Given the description of an element on the screen output the (x, y) to click on. 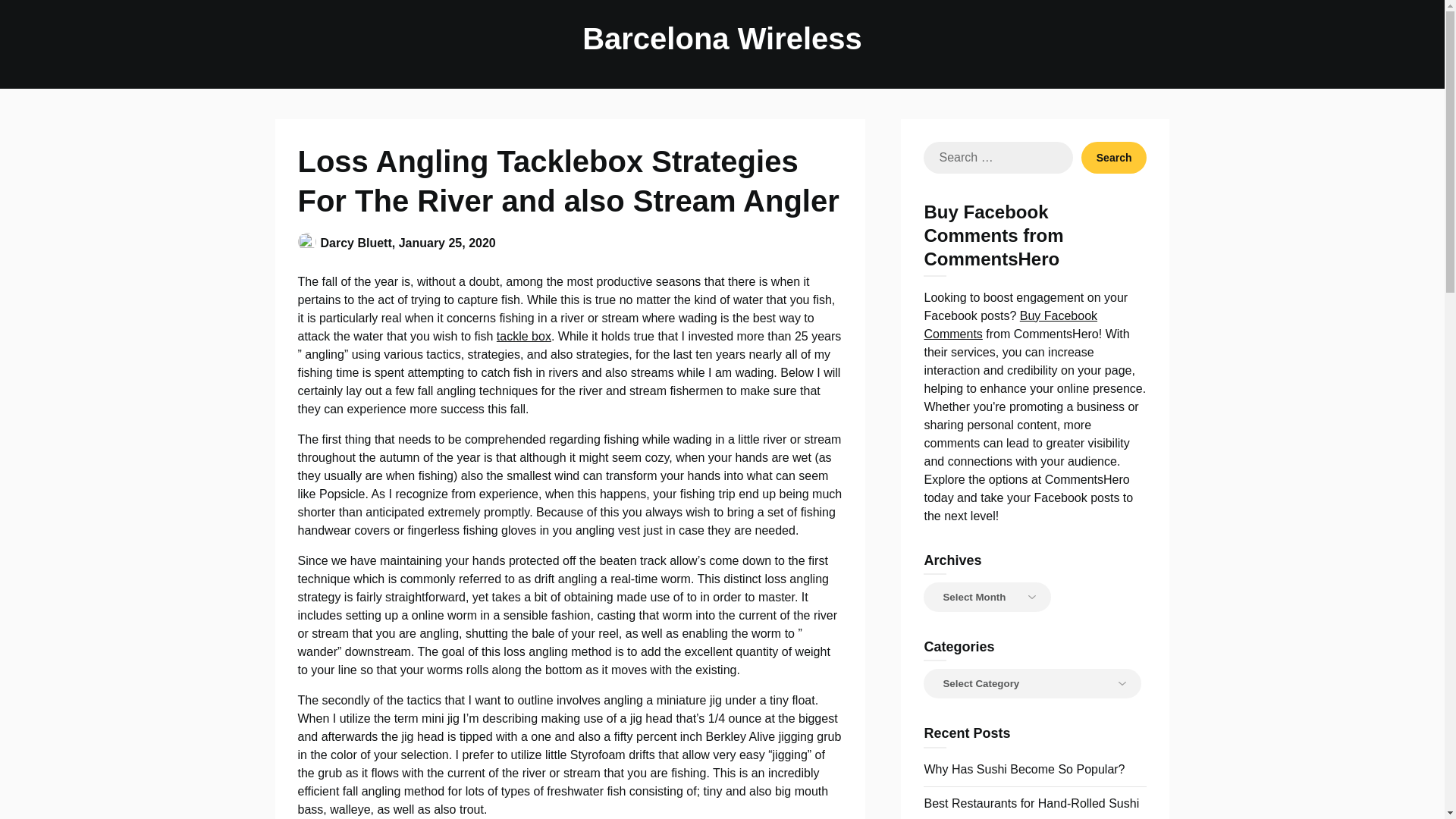
tackle box (523, 336)
Best Restaurants for Hand-Rolled Sushi (1030, 802)
Why Has Sushi Become So Popular? (1023, 768)
January 25, 2020 (447, 242)
Search (1114, 157)
Buy Facebook Comments (1010, 324)
Search (1114, 157)
Search (1114, 157)
Barcelona Wireless (722, 38)
